Given the description of an element on the screen output the (x, y) to click on. 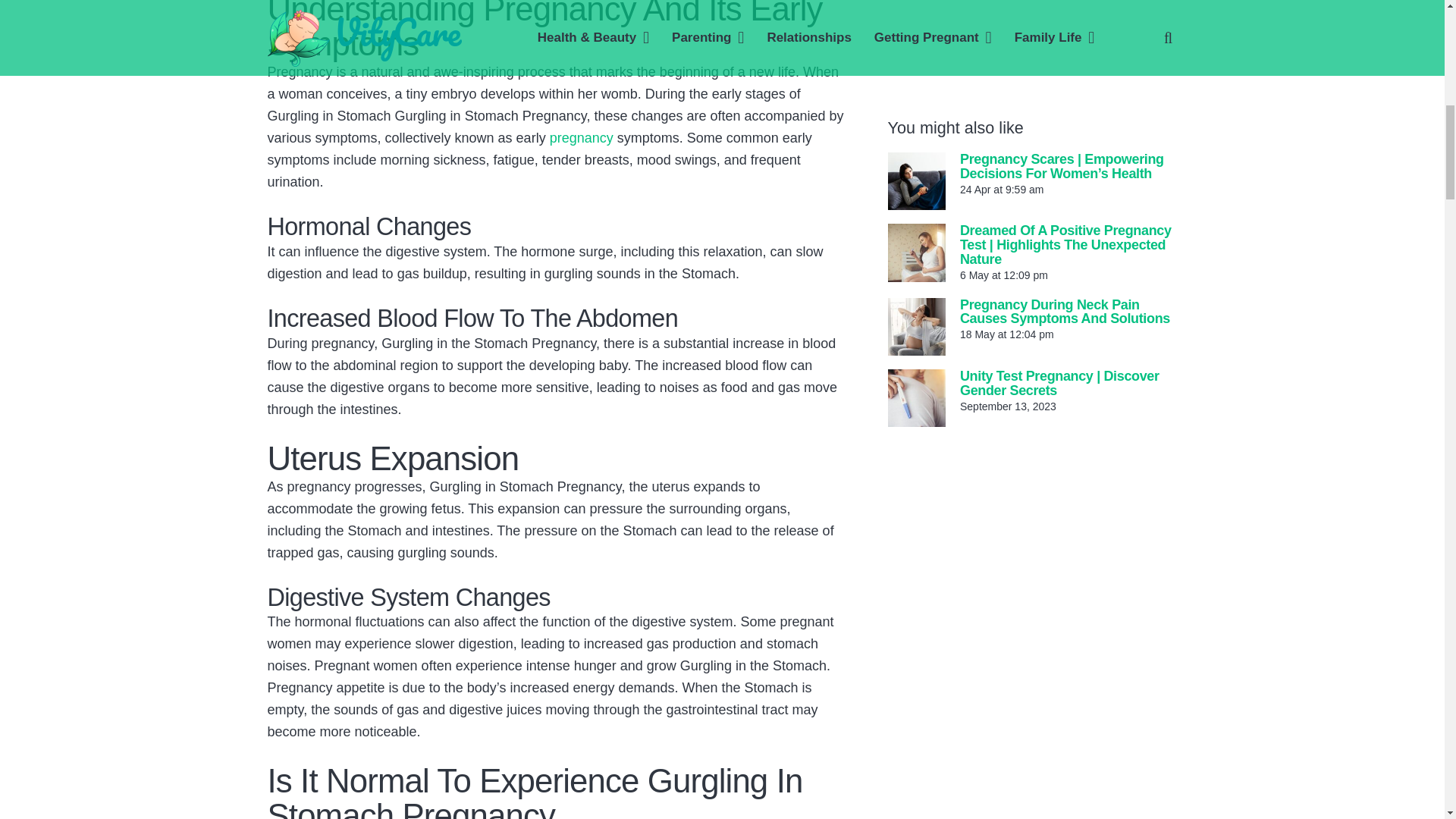
pregnancy (581, 137)
